Given the description of an element on the screen output the (x, y) to click on. 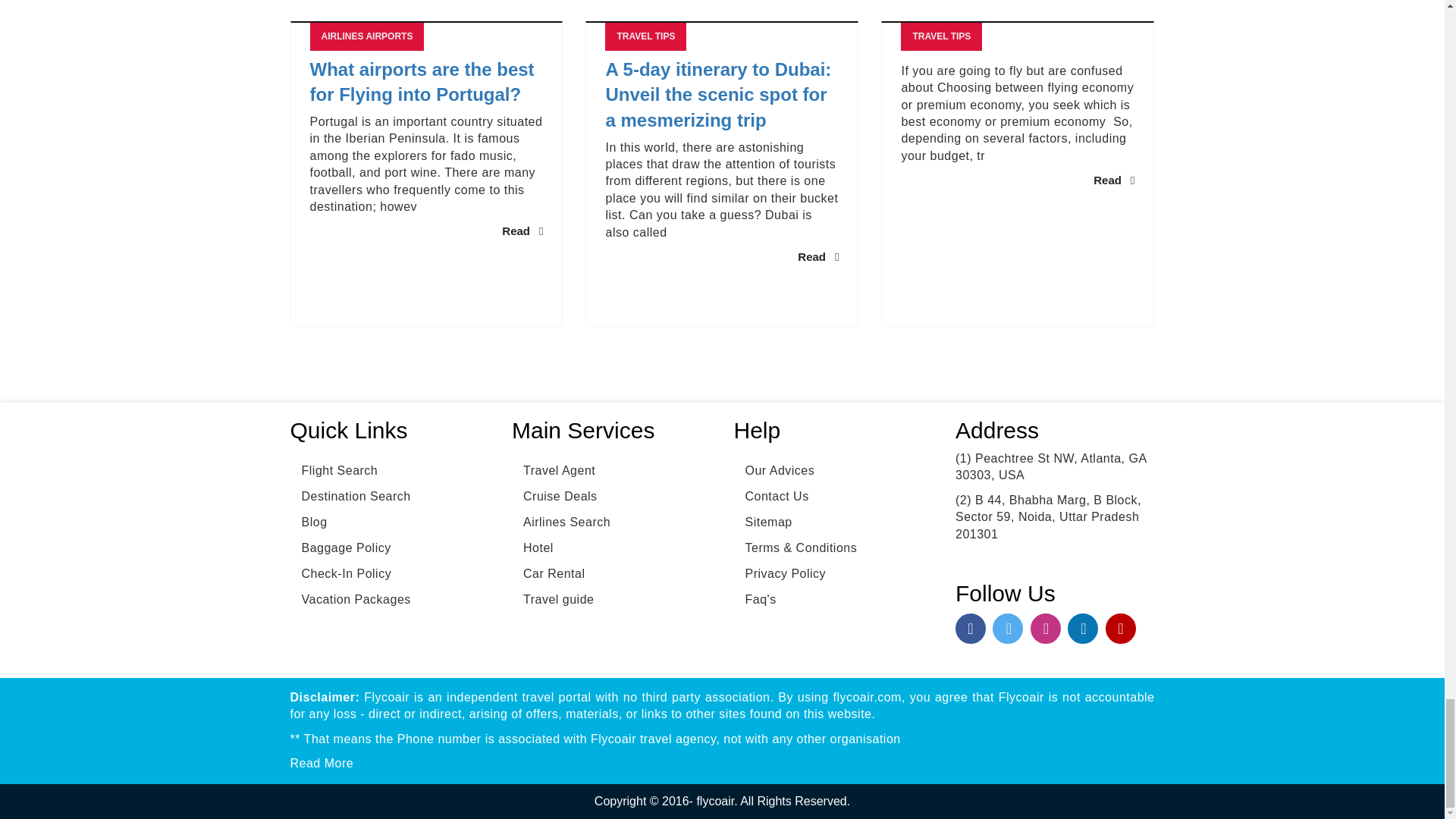
Flight Search (333, 470)
Read (1113, 179)
What airports are the best for Flying into Portugal? (425, 81)
Read (817, 256)
Read (522, 230)
